Given the description of an element on the screen output the (x, y) to click on. 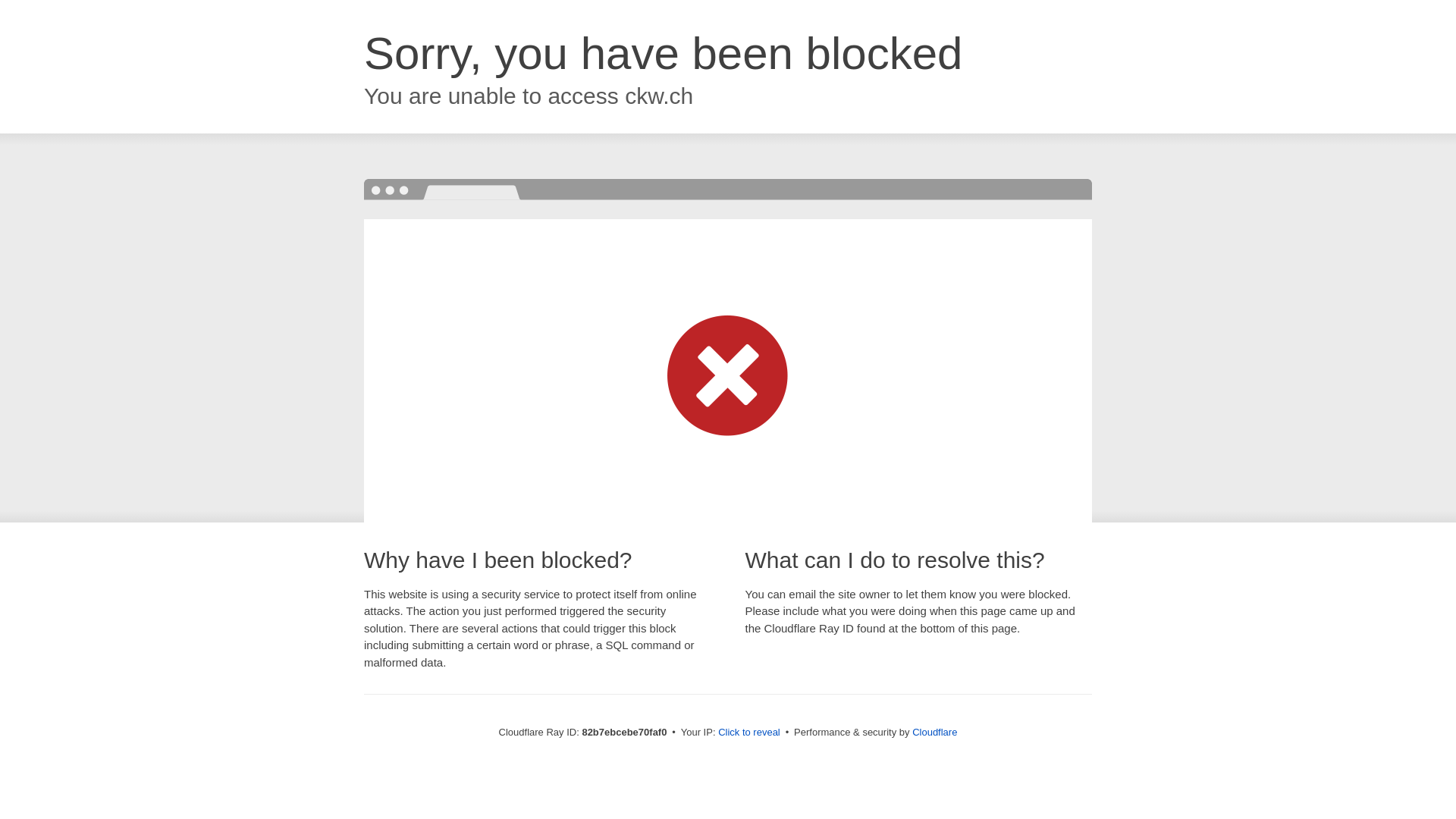
Click to reveal Element type: text (749, 732)
Cloudflare Element type: text (934, 731)
